Given the description of an element on the screen output the (x, y) to click on. 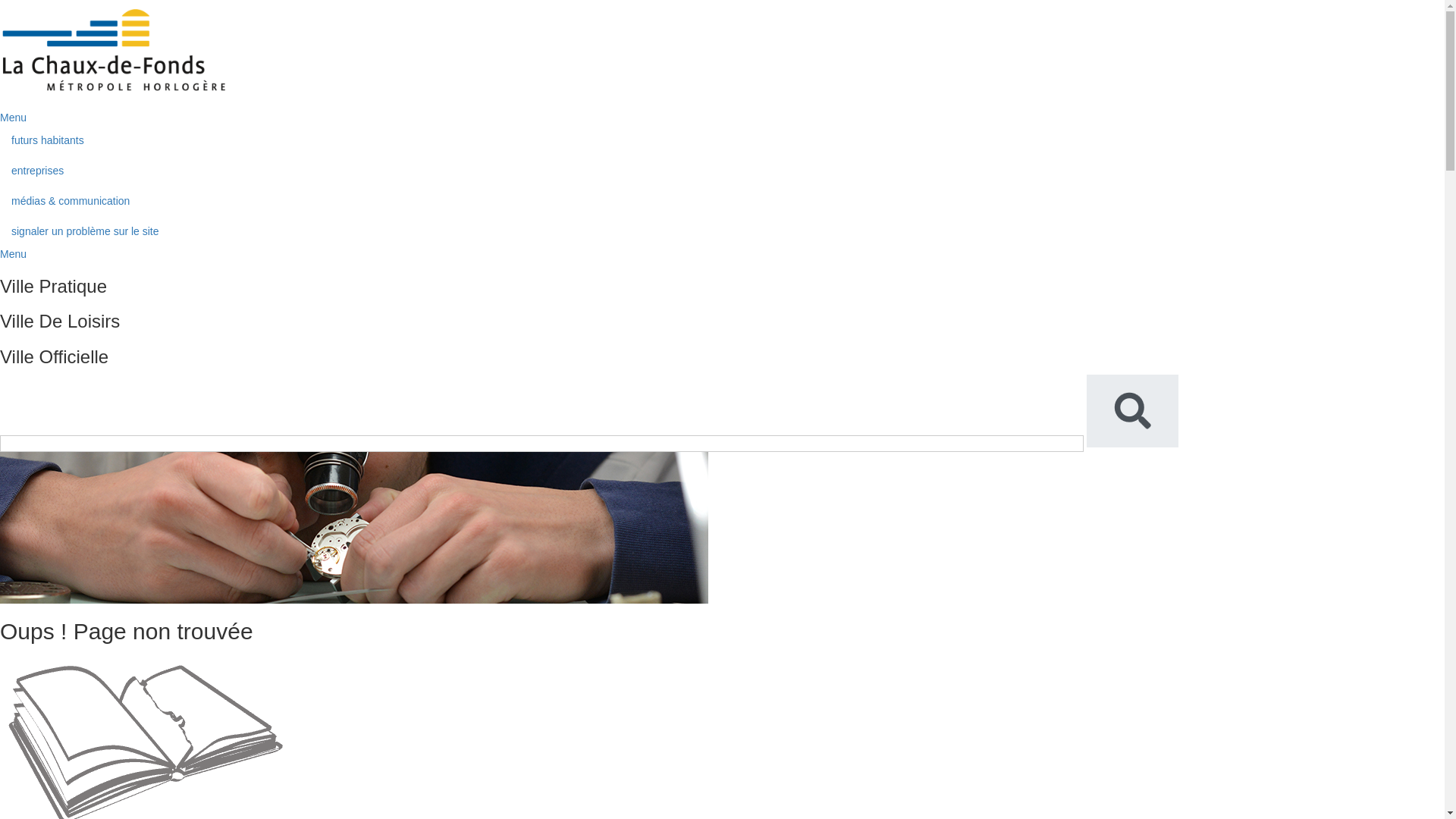
futurs habitants Element type: text (722, 140)
entreprises Element type: text (722, 170)
rechercher Element type: hover (1132, 410)
Menu Element type: text (13, 117)
Menu Element type: text (13, 253)
rechercher Element type: hover (541, 443)
